Given the description of an element on the screen output the (x, y) to click on. 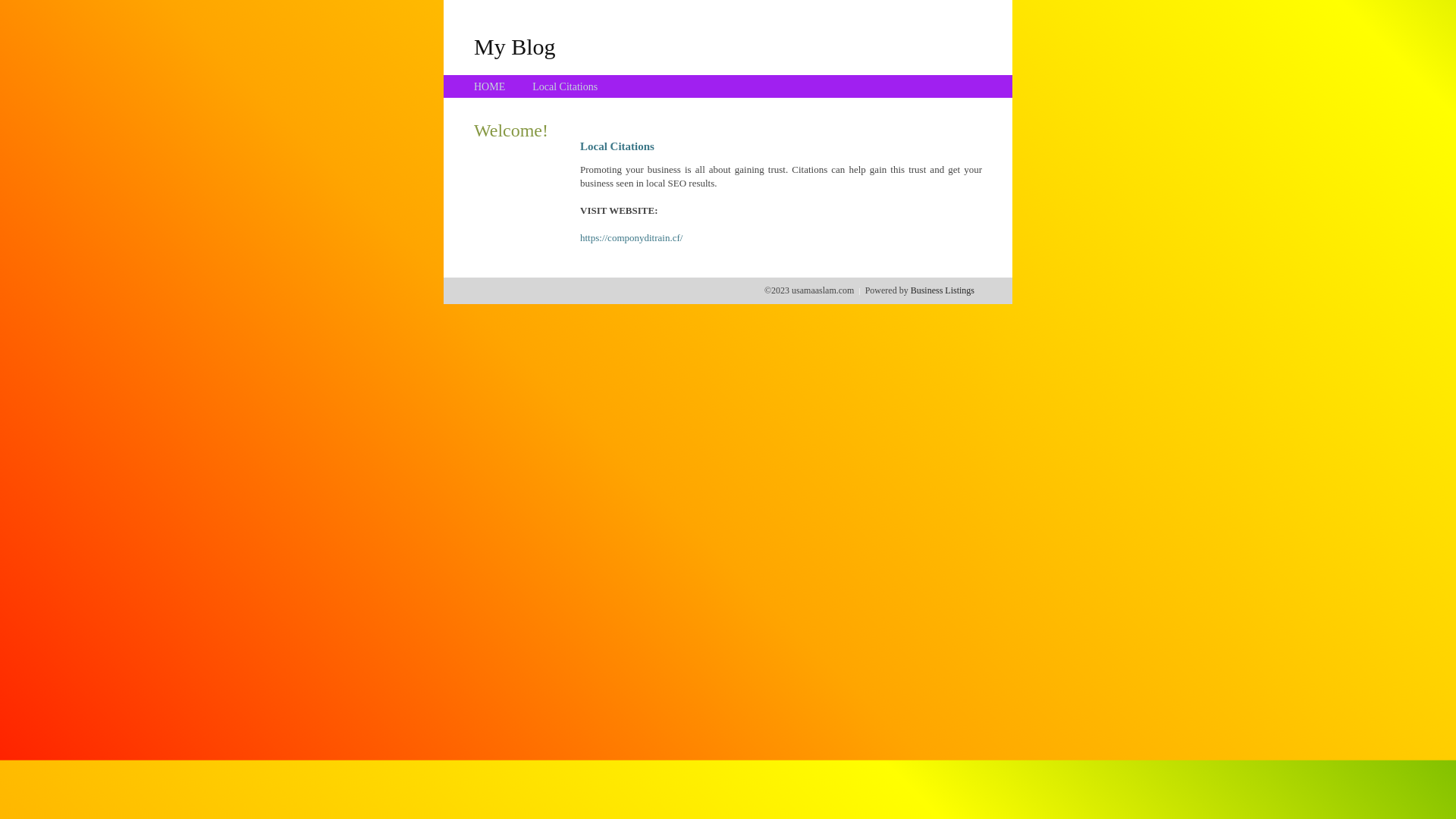
https://componyditrain.cf/ Element type: text (631, 237)
Local Citations Element type: text (564, 86)
Business Listings Element type: text (942, 290)
HOME Element type: text (489, 86)
My Blog Element type: text (514, 46)
